Given the description of an element on the screen output the (x, y) to click on. 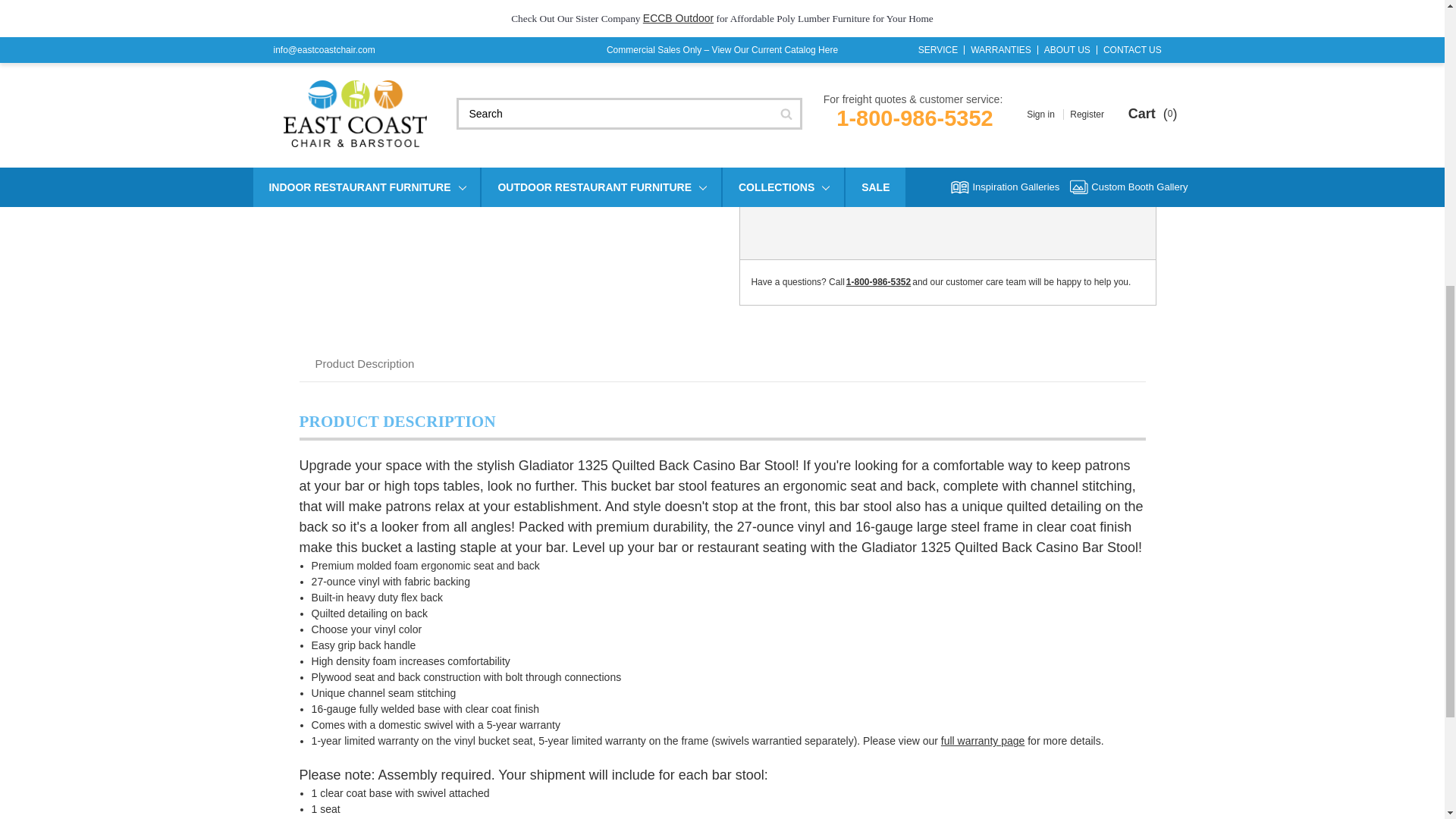
1 (874, 131)
Add to Cart (988, 134)
